Given the description of an element on the screen output the (x, y) to click on. 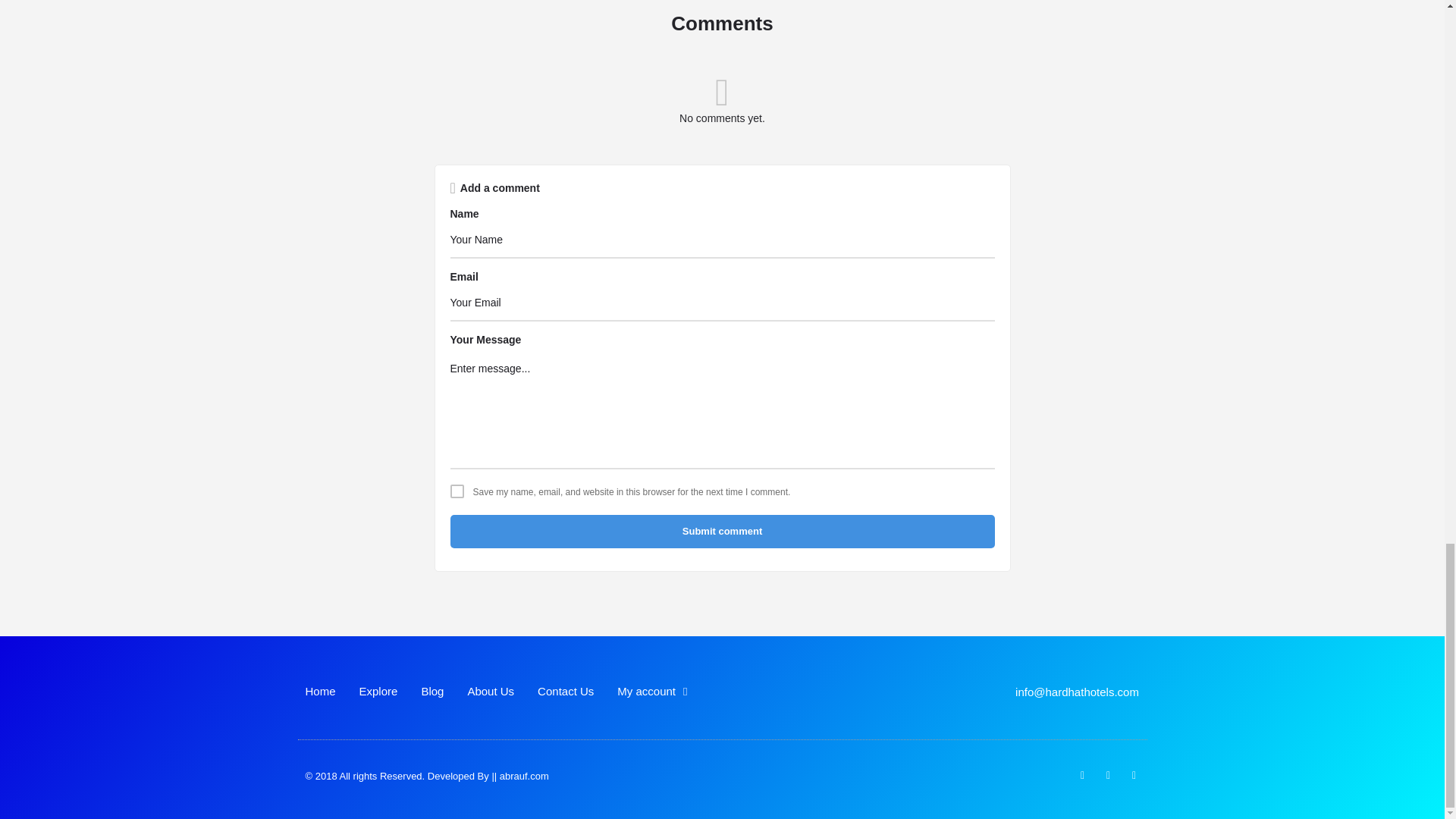
Blog (432, 691)
About Us (490, 691)
Explore (378, 691)
My account (652, 691)
Home (319, 691)
Contact Us (565, 691)
Submit comment (721, 531)
